Given the description of an element on the screen output the (x, y) to click on. 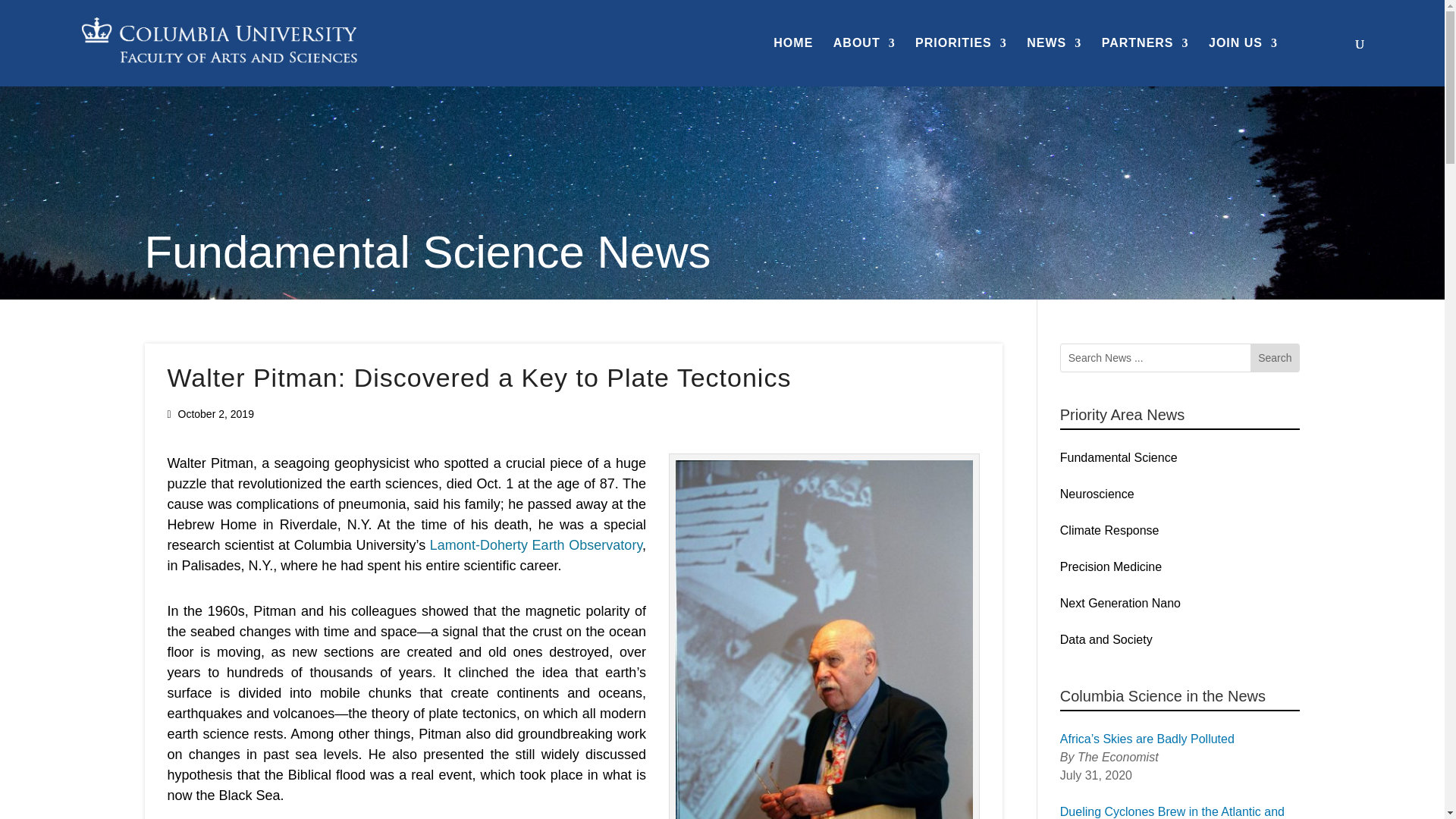
PRIORITIES (961, 61)
PARTNERS (1145, 61)
ABOUT (863, 61)
JOIN US (1243, 61)
Search (1274, 357)
Search (1274, 357)
NEWS (1053, 61)
